Given the description of an element on the screen output the (x, y) to click on. 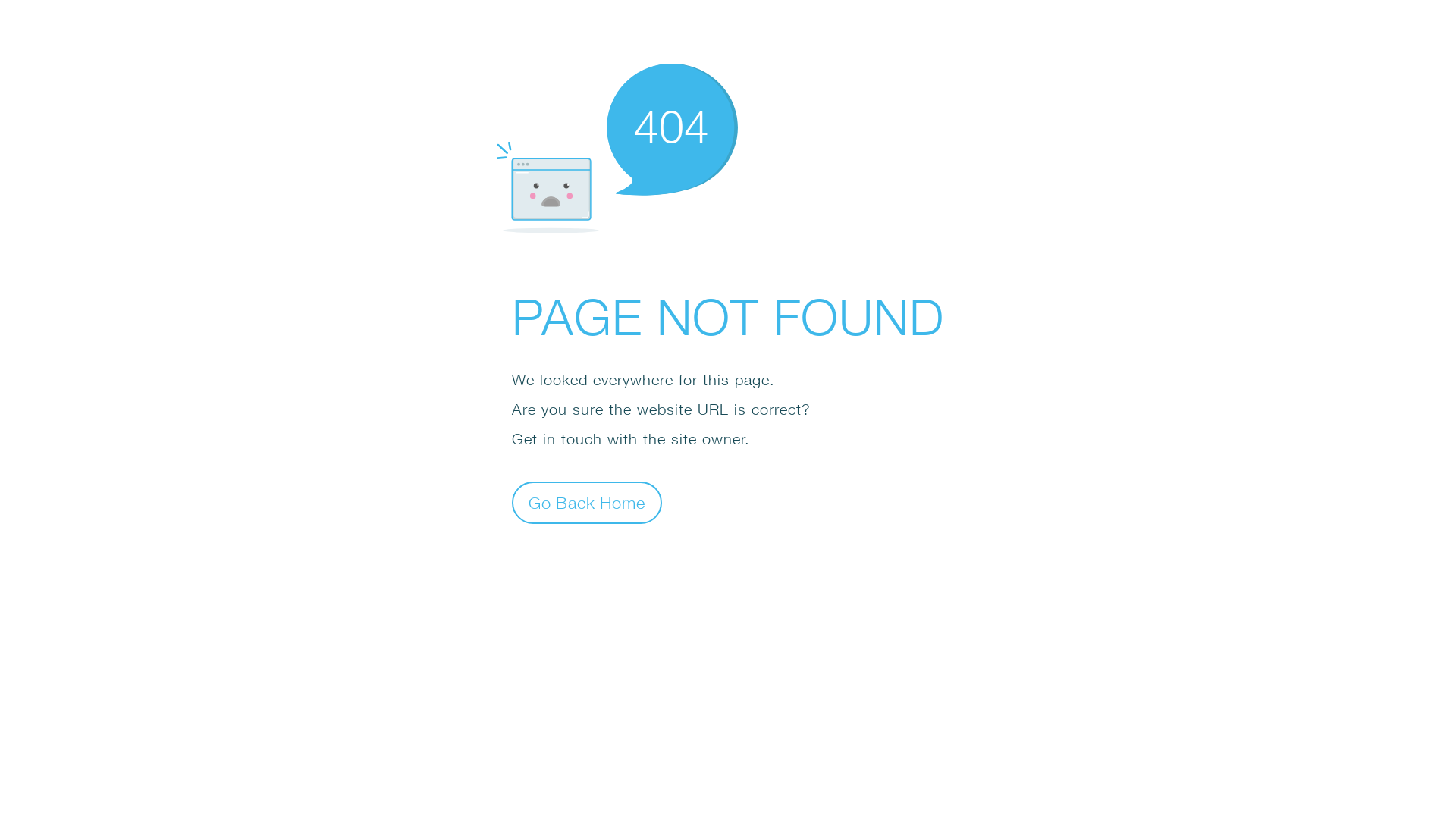
Go Back Home Element type: text (586, 502)
